Given the description of an element on the screen output the (x, y) to click on. 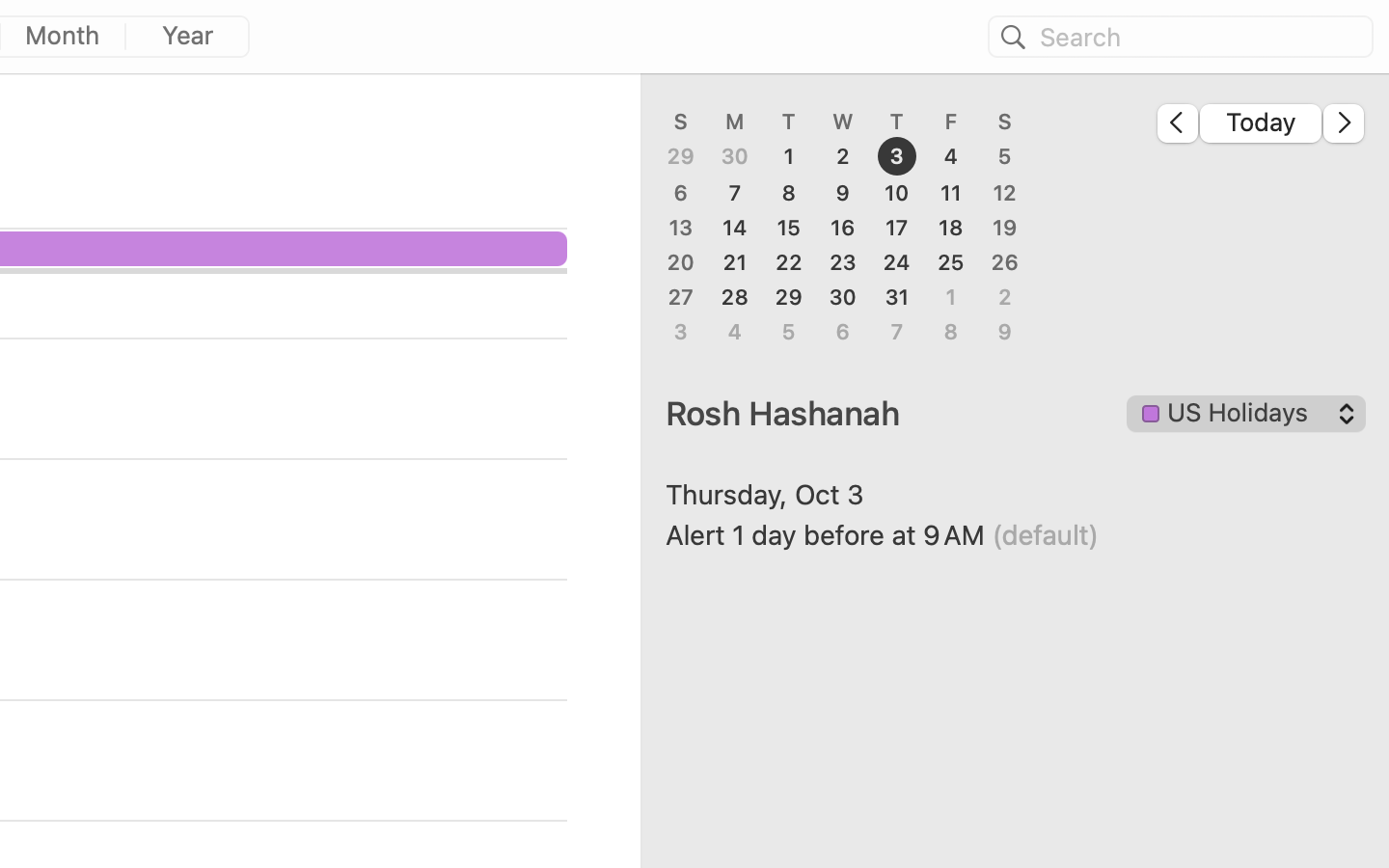
21 Element type: AXStaticText (735, 261)
28 Element type: AXStaticText (735, 296)
2 Element type: AXStaticText (843, 156)
18 Element type: AXStaticText (951, 227)
12 Element type: AXStaticText (1005, 192)
